Given the description of an element on the screen output the (x, y) to click on. 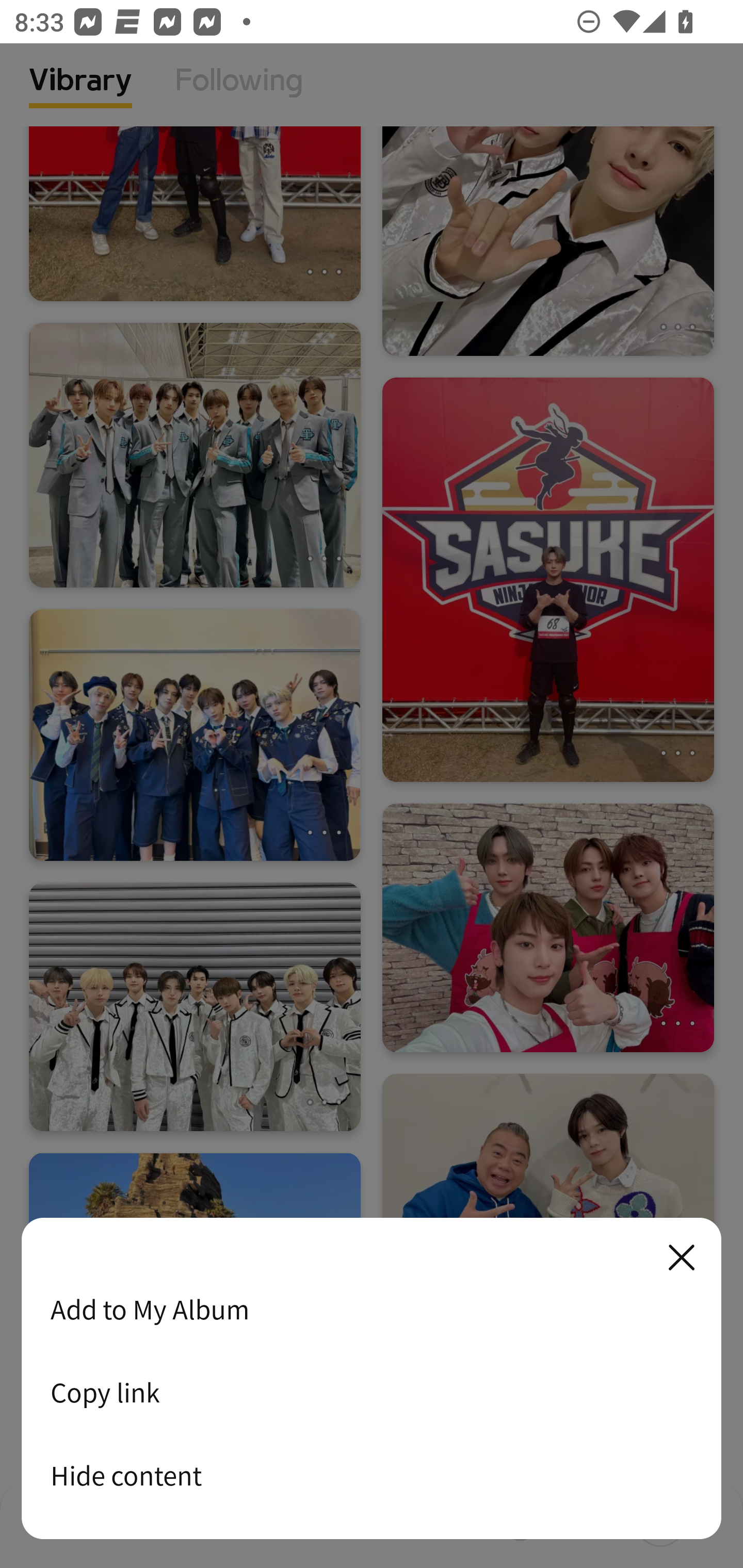
Add to My Album Copy link Hide content (371, 1378)
Add to My Album (371, 1308)
Copy link (371, 1391)
Hide content (371, 1474)
